Given the description of an element on the screen output the (x, y) to click on. 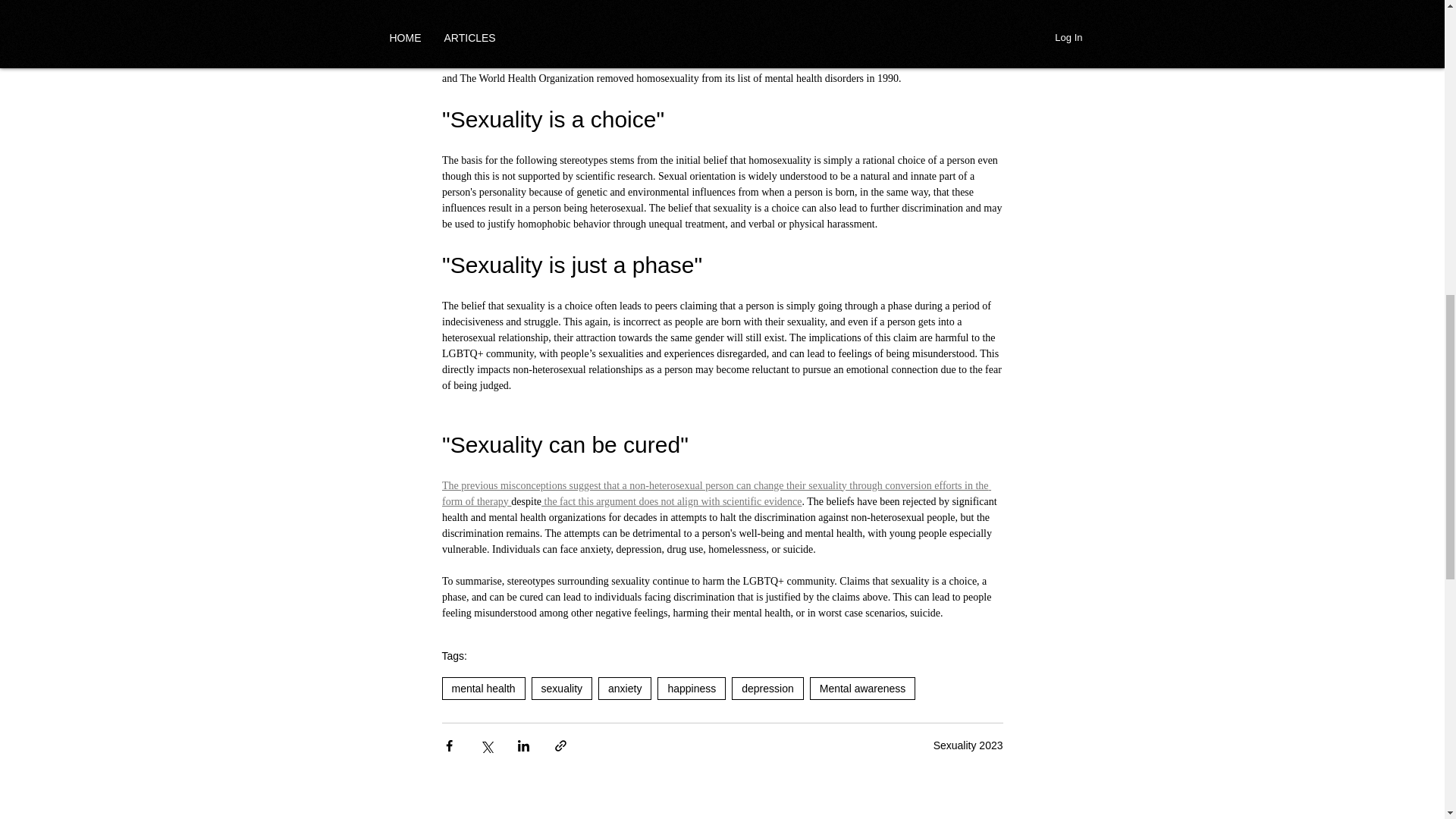
depression (767, 688)
Mental awareness (862, 688)
sexuality (561, 688)
Sexuality 2023 (968, 745)
mental health (482, 688)
anxiety (624, 688)
happiness (691, 688)
